Given the description of an element on the screen output the (x, y) to click on. 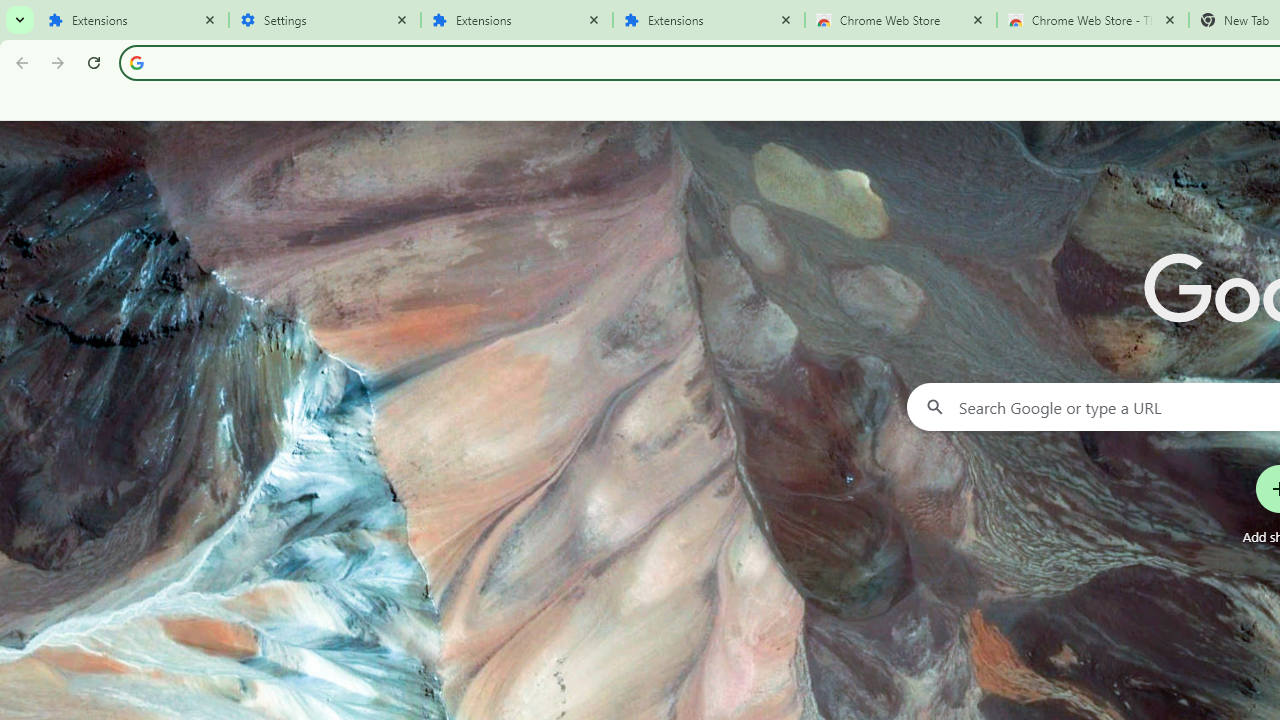
Extensions (517, 20)
Chrome Web Store - Themes (1093, 20)
Chrome Web Store (901, 20)
Extensions (133, 20)
Extensions (709, 20)
Settings (325, 20)
